Given the description of an element on the screen output the (x, y) to click on. 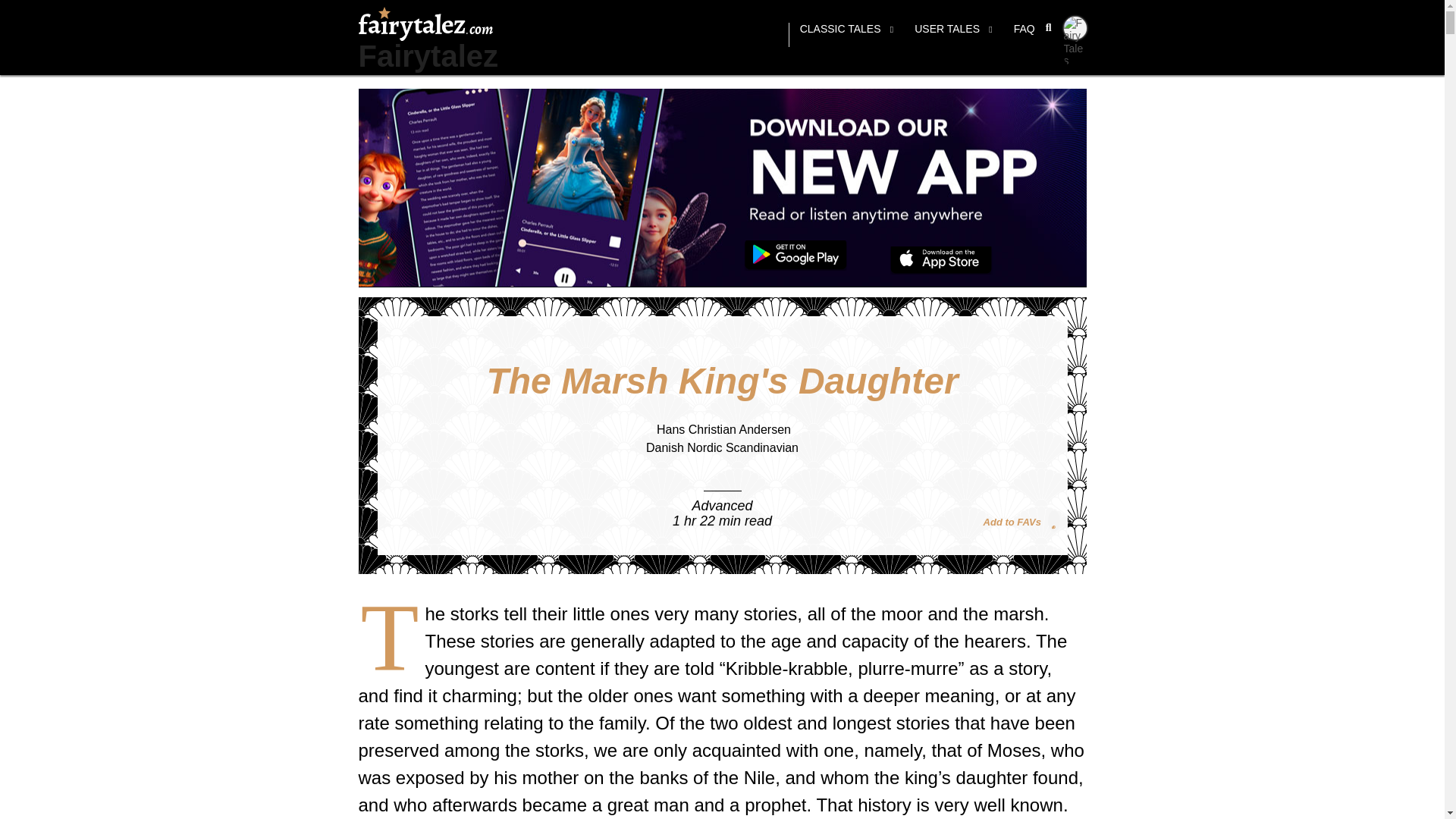
Nordic (704, 447)
Fairytalez audio book ios app (940, 260)
Scandinavian (761, 447)
Hans Christian Andersen (723, 429)
Fairytalez (427, 55)
CLASSIC TALES (846, 34)
FAQ (1024, 34)
Fairytalez audio book android app (795, 255)
Add to FAVs (1021, 520)
